Given the description of an element on the screen output the (x, y) to click on. 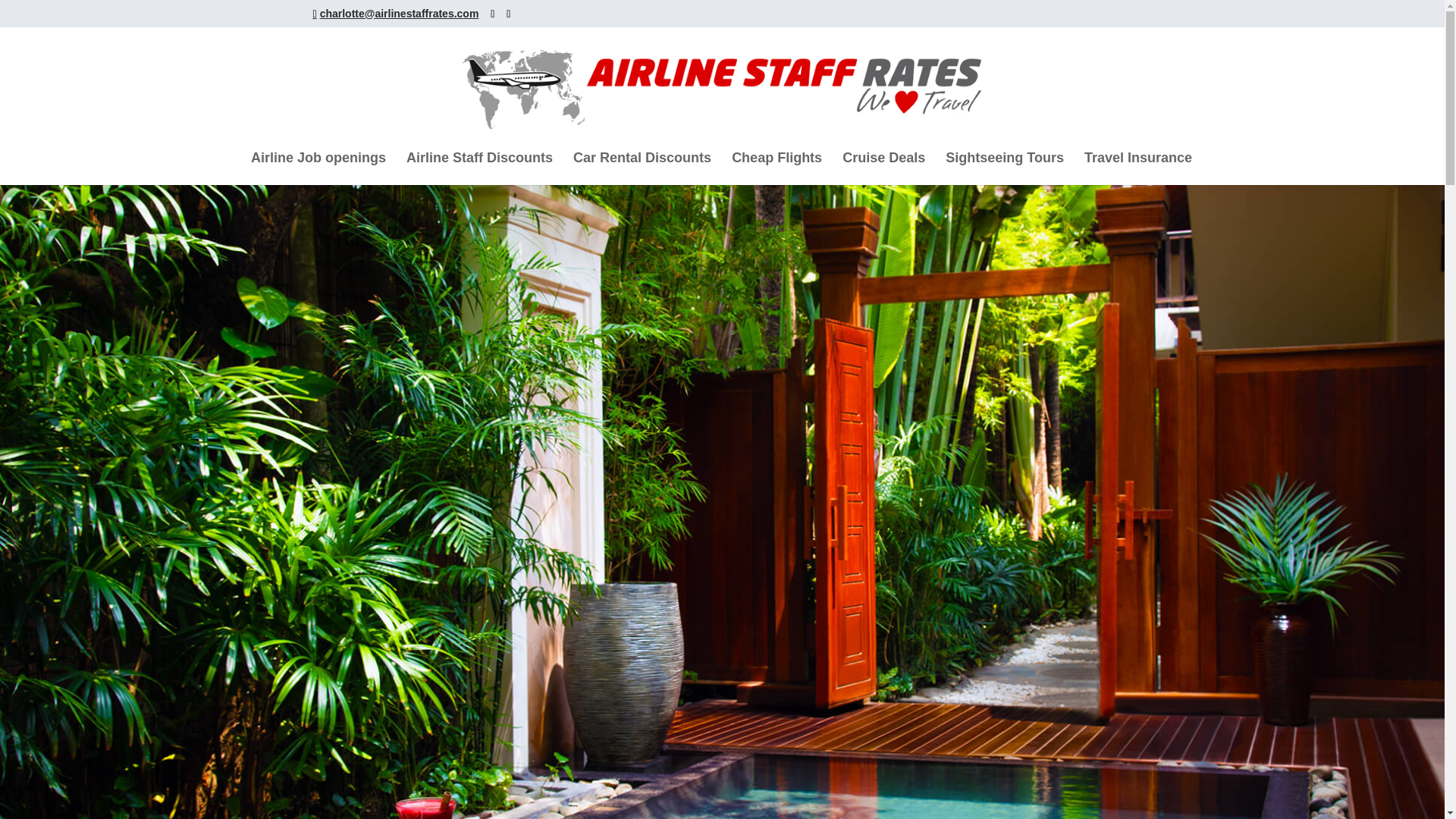
Airline Job openings (317, 168)
Car Rental Discounts (642, 168)
Sightseeing Tours (1004, 168)
Cruise Deals (883, 168)
Airline Staff Discounts (479, 168)
Cheap Flights (777, 168)
Travel Insurance (1138, 168)
